Given the description of an element on the screen output the (x, y) to click on. 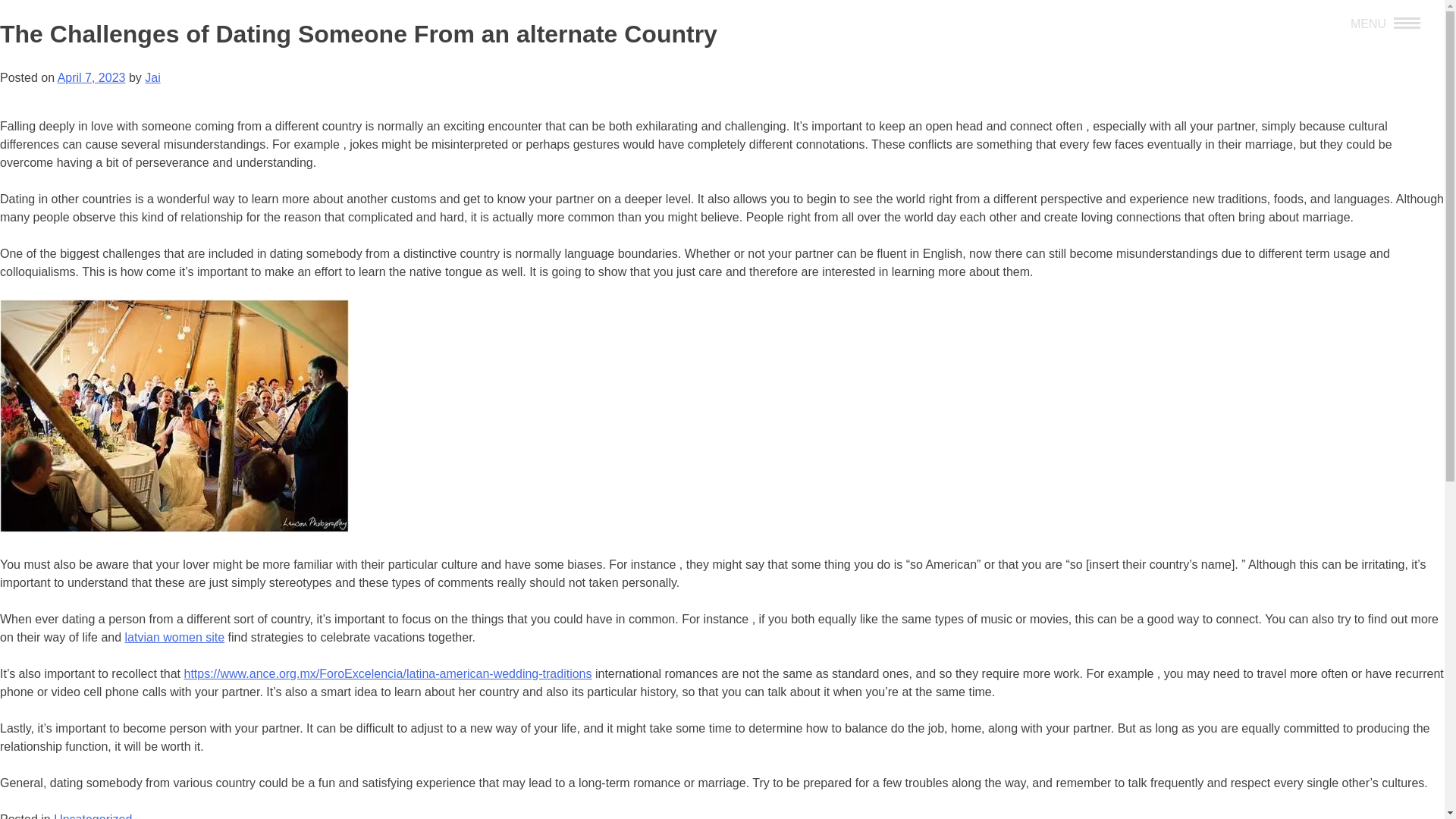
Uncategorized (92, 816)
latvian women site (175, 636)
Jai (152, 77)
April 7, 2023 (91, 77)
